Given the description of an element on the screen output the (x, y) to click on. 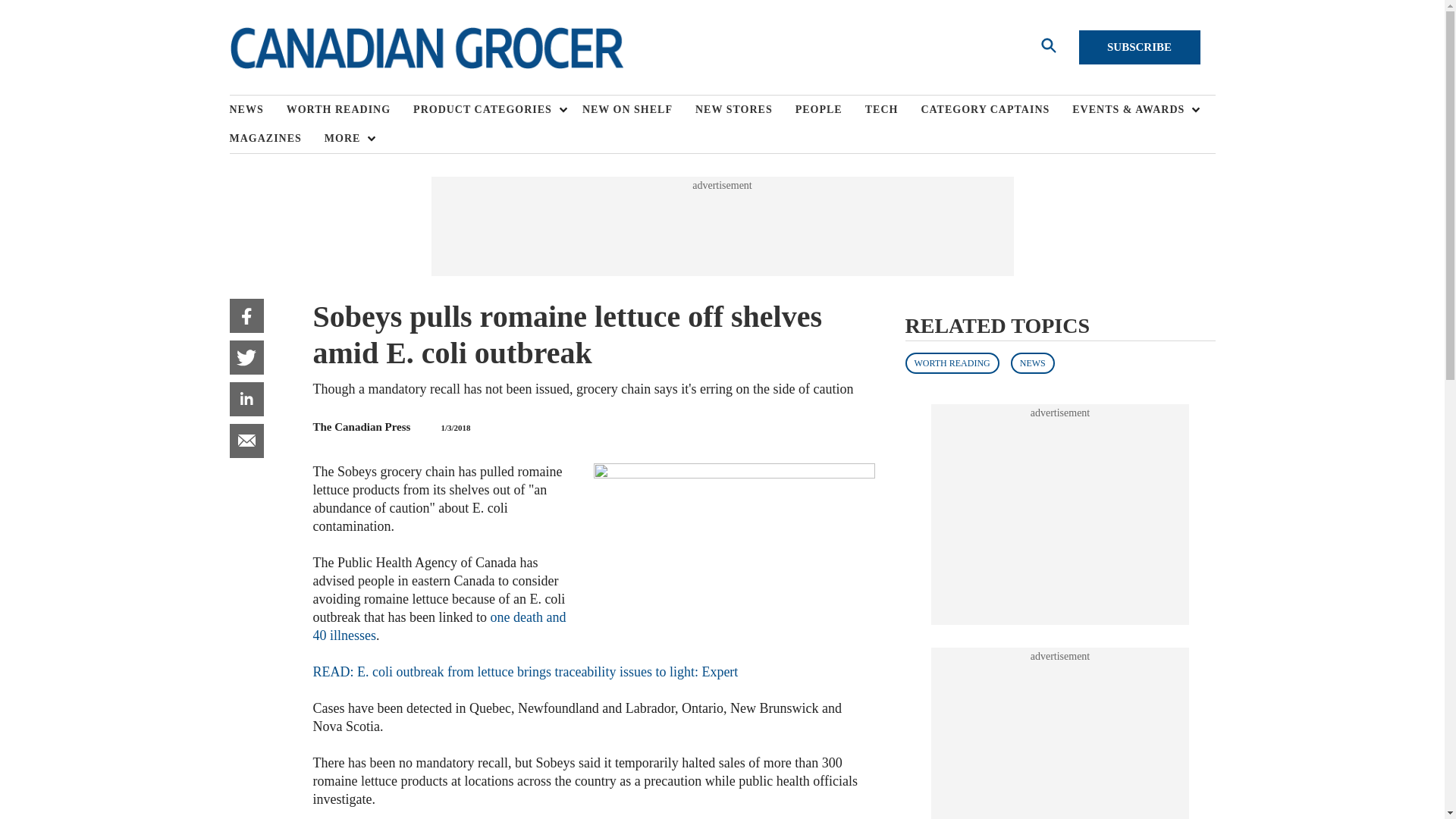
SUBSCRIBE (1138, 47)
TECH (892, 109)
3rd party ad content (1059, 741)
PEOPLE (829, 109)
CATEGORY CAPTAINS (995, 109)
WORTH READING (349, 109)
facebook (245, 315)
twitter (245, 357)
MORE (346, 138)
NEW ON SHELF (638, 109)
